Given the description of an element on the screen output the (x, y) to click on. 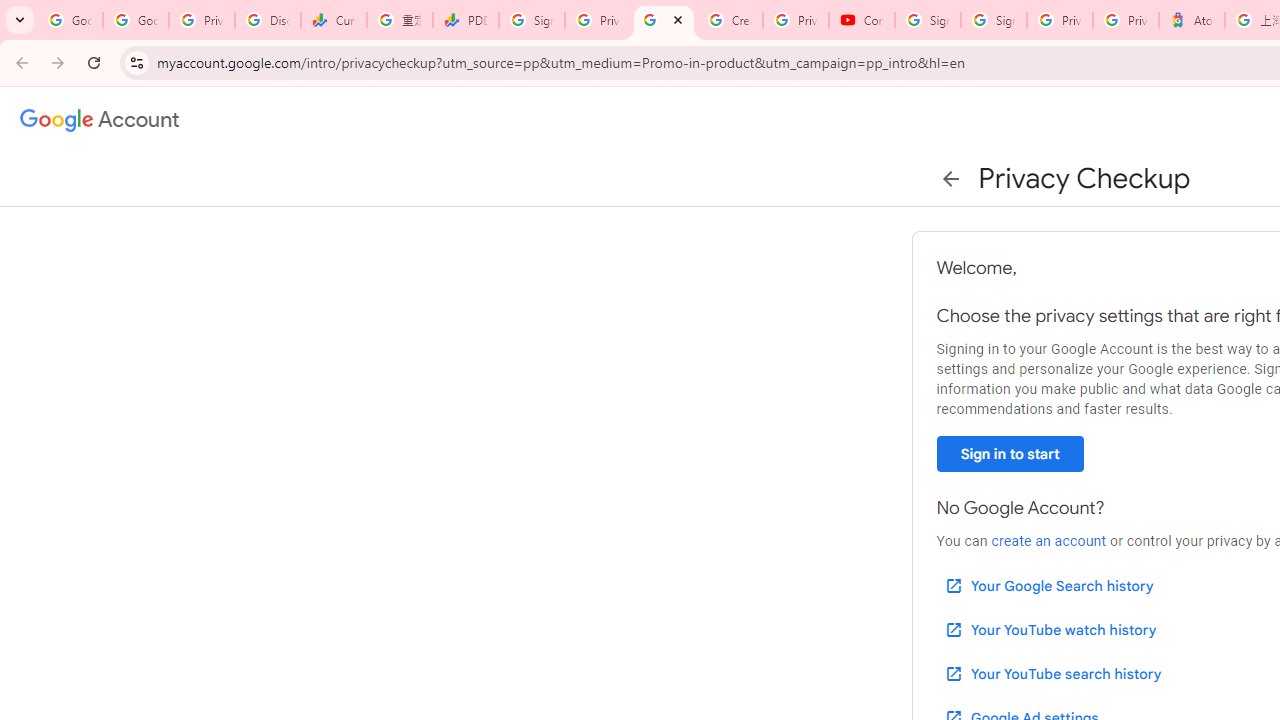
Google Workspace Admin Community (70, 20)
create an account (1048, 541)
